Given the description of an element on the screen output the (x, y) to click on. 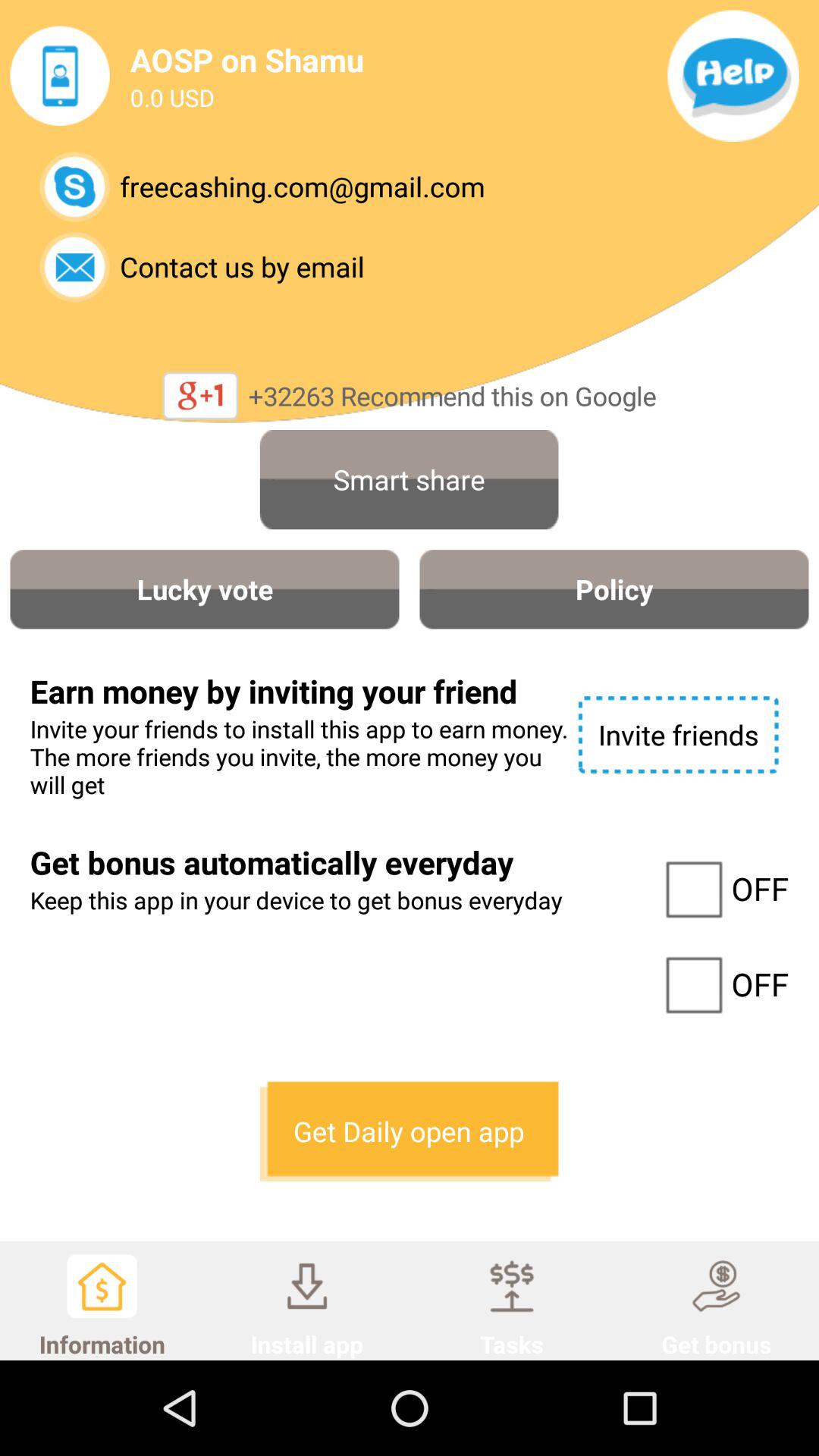
email them (74, 267)
